Given the description of an element on the screen output the (x, y) to click on. 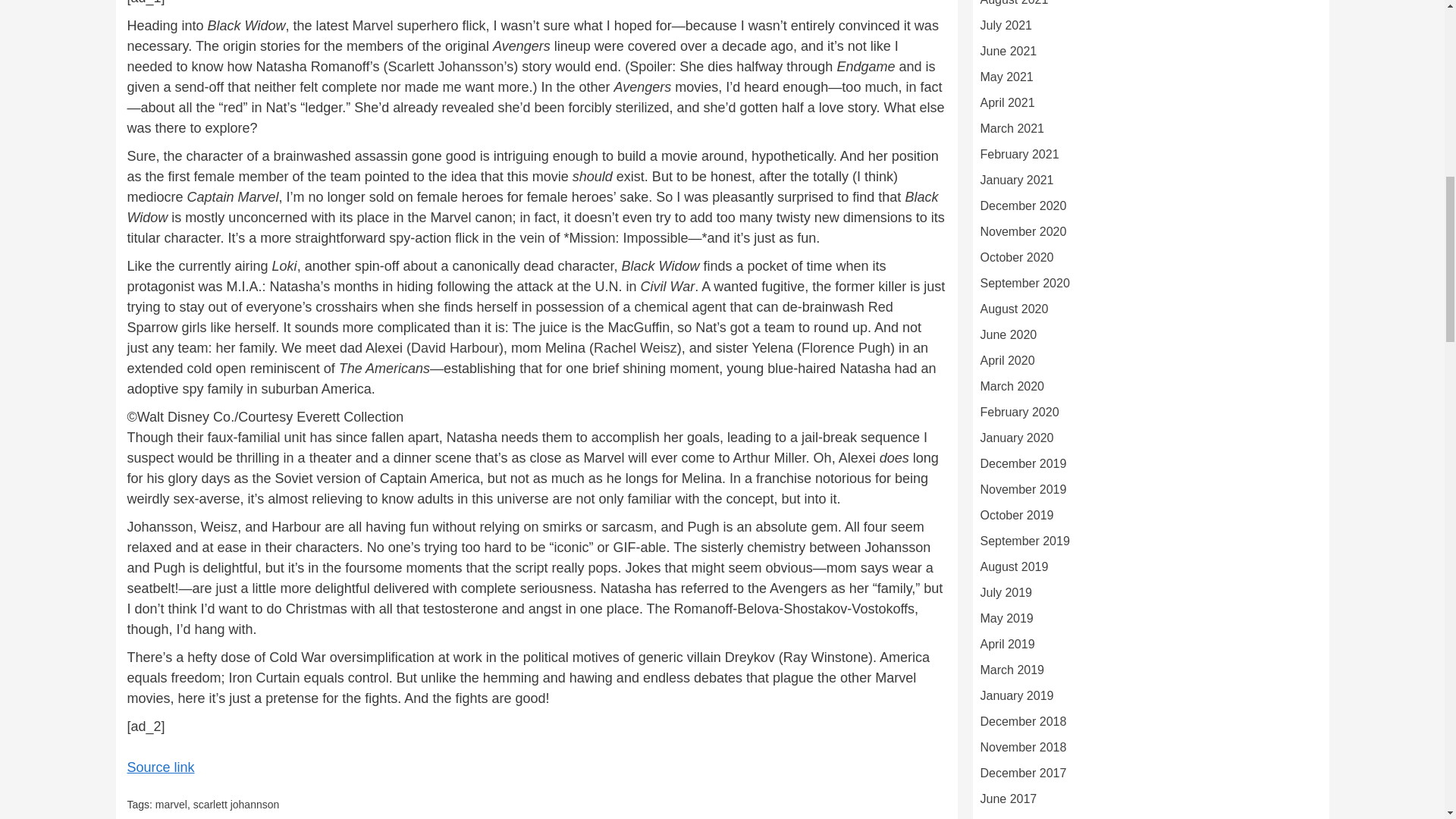
Florence Pugh (845, 347)
Marvel (372, 25)
Scarlett Johansson (445, 66)
marvel (171, 804)
Rachel Weisz (635, 347)
scarlett johannson (236, 804)
Source link (161, 767)
David Harbour (454, 347)
